Given the description of an element on the screen output the (x, y) to click on. 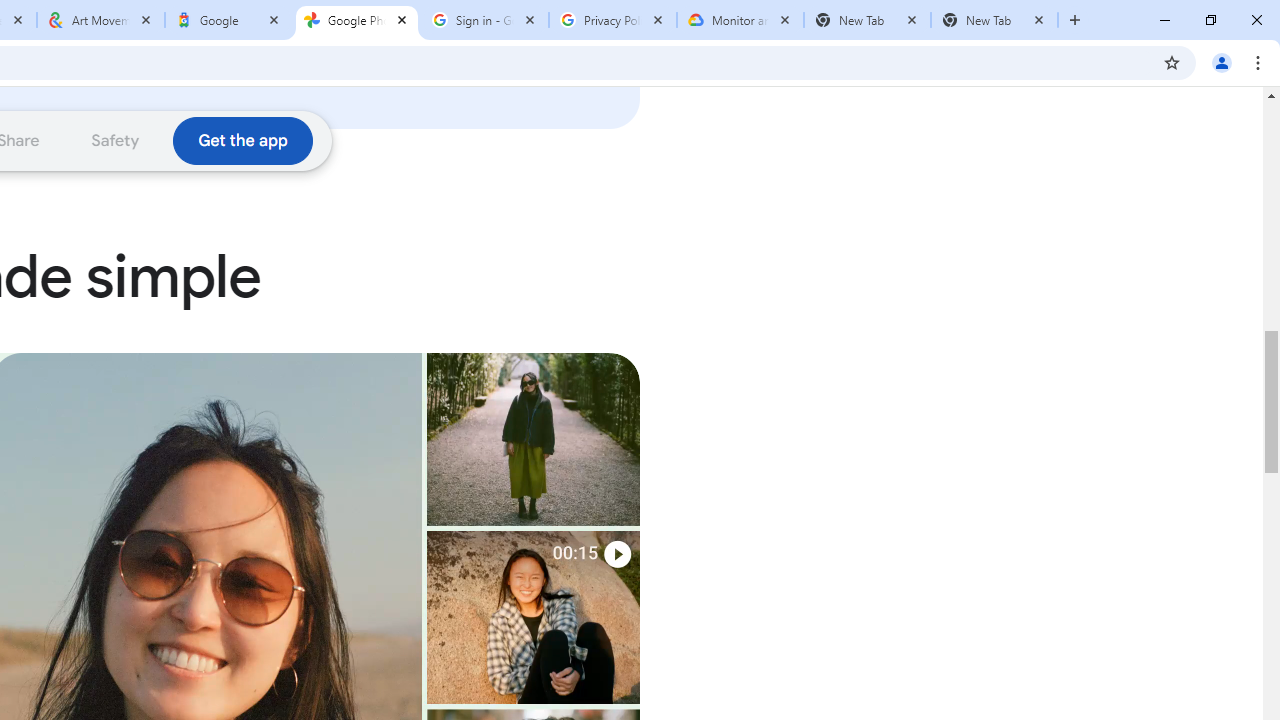
New Tab (866, 20)
New Tab (994, 20)
Google (229, 20)
Go to section: Safety (115, 140)
Sign in - Google Accounts (485, 20)
Download the Google Photos app (242, 140)
